Given the description of an element on the screen output the (x, y) to click on. 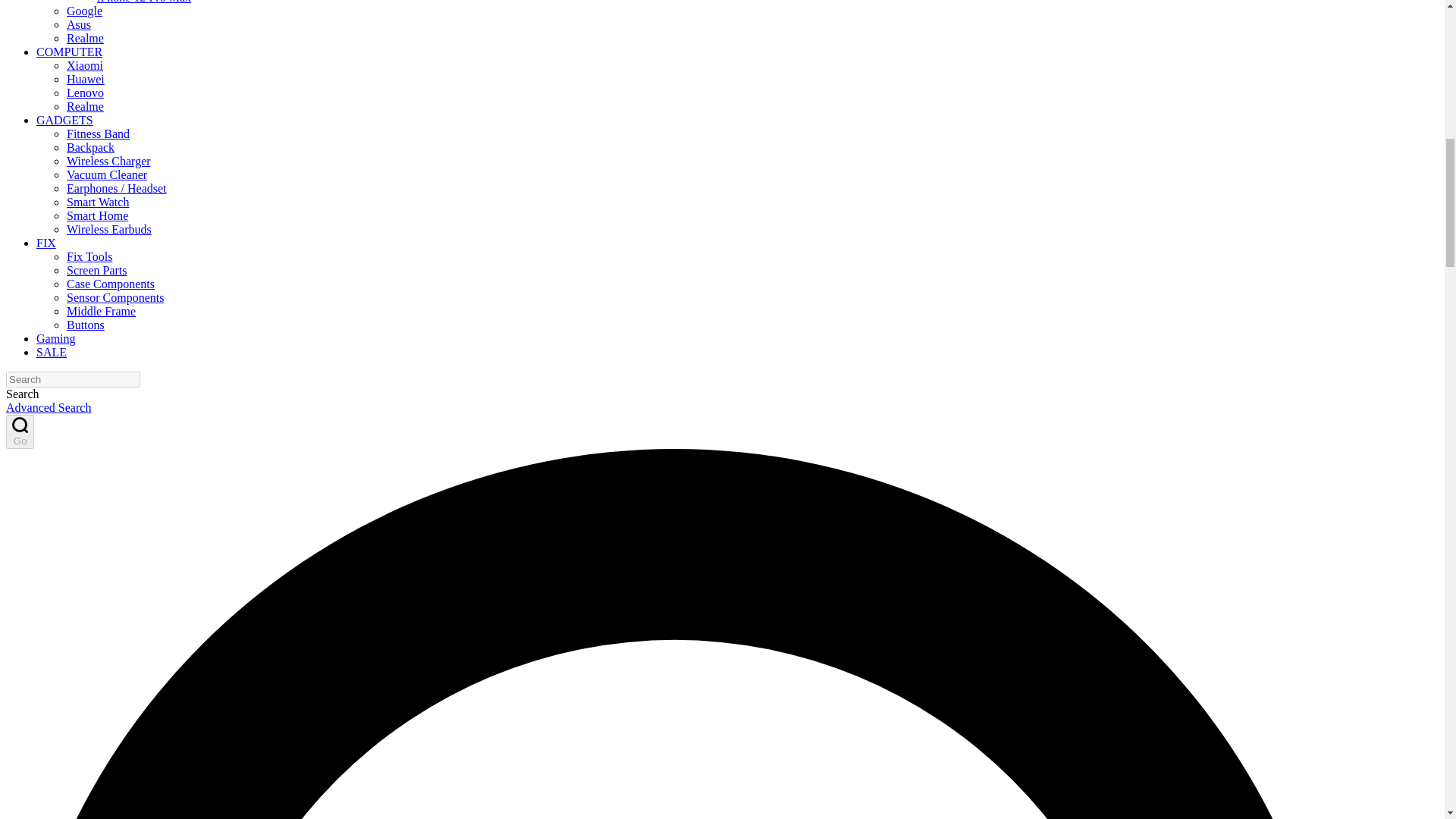
Go (19, 431)
